Given the description of an element on the screen output the (x, y) to click on. 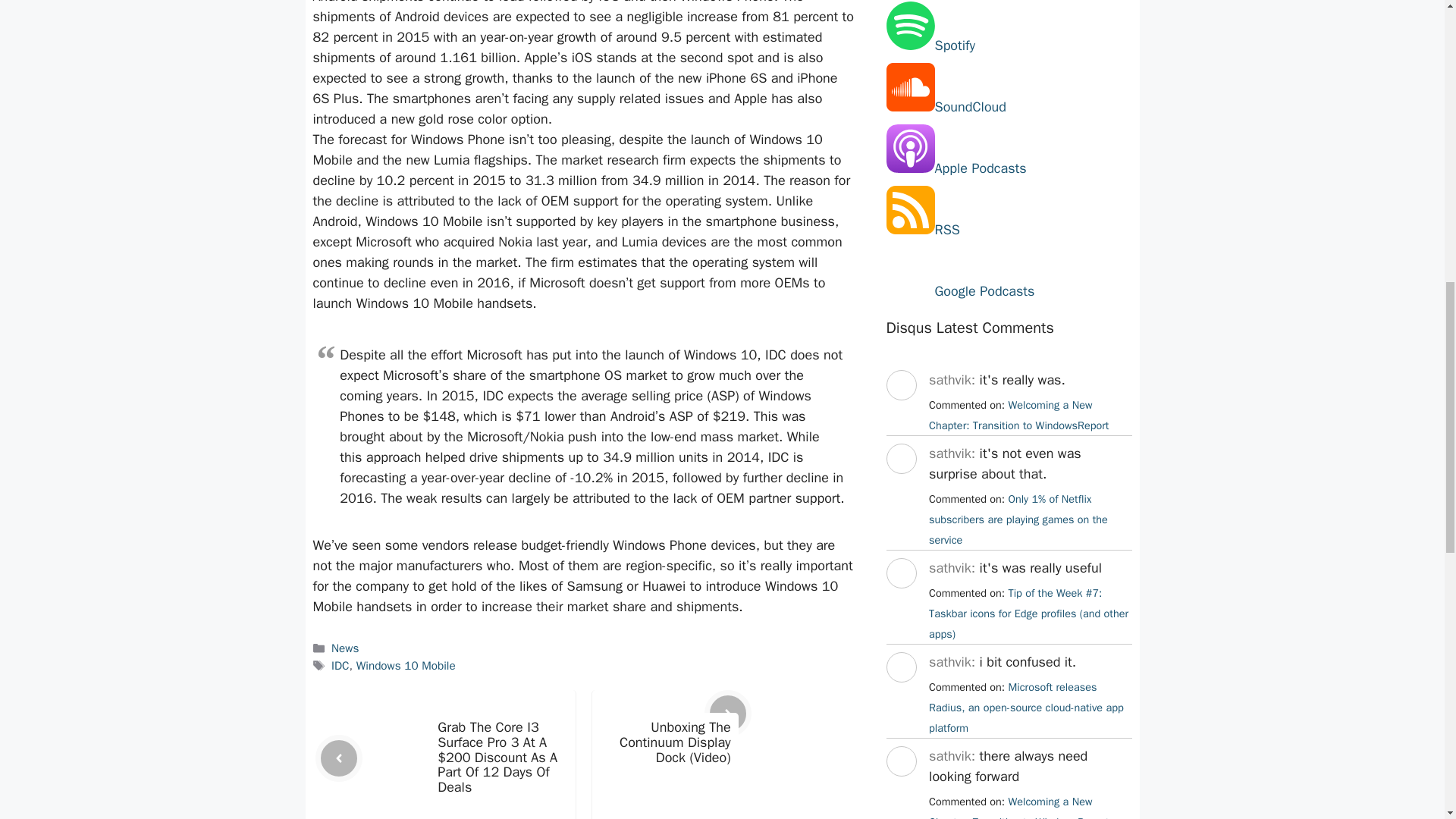
July 11, 2024 (1018, 519)
sathvik (900, 413)
sathvik (900, 487)
July 8, 2024 (1028, 613)
May 20, 2024 (1018, 806)
July 24, 2024 (1018, 415)
sathvik (900, 790)
June 15, 2024 (1026, 707)
sathvik (900, 601)
sathvik (900, 695)
